Given the description of an element on the screen output the (x, y) to click on. 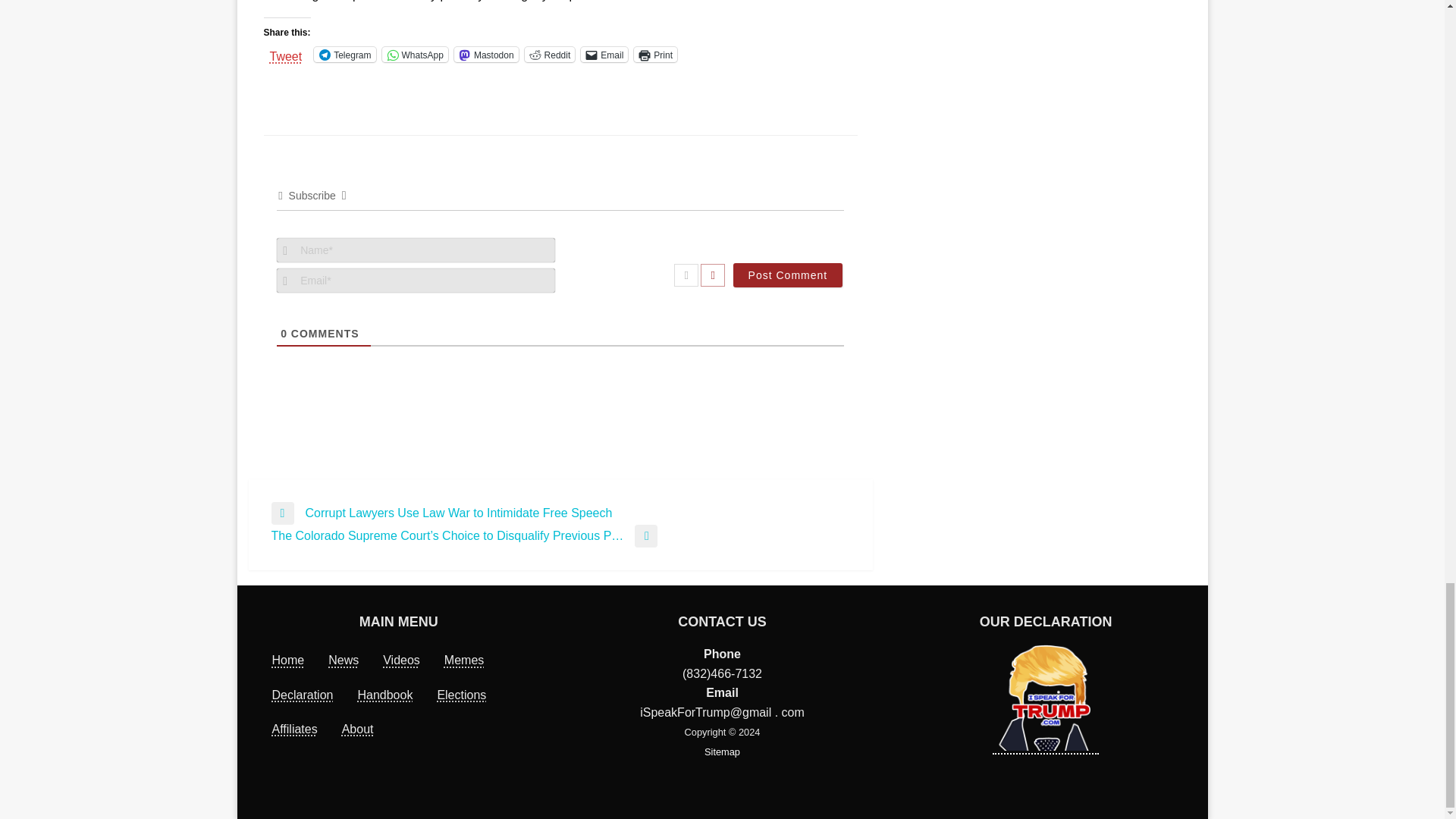
Email (603, 54)
Post Comment (788, 274)
Mastodon (486, 54)
WhatsApp (414, 54)
Tweet (285, 53)
Telegram (344, 54)
Reddit (549, 54)
Post Comment (788, 274)
Click to email a link to a friend (603, 54)
Click to share on WhatsApp (414, 54)
